Given the description of an element on the screen output the (x, y) to click on. 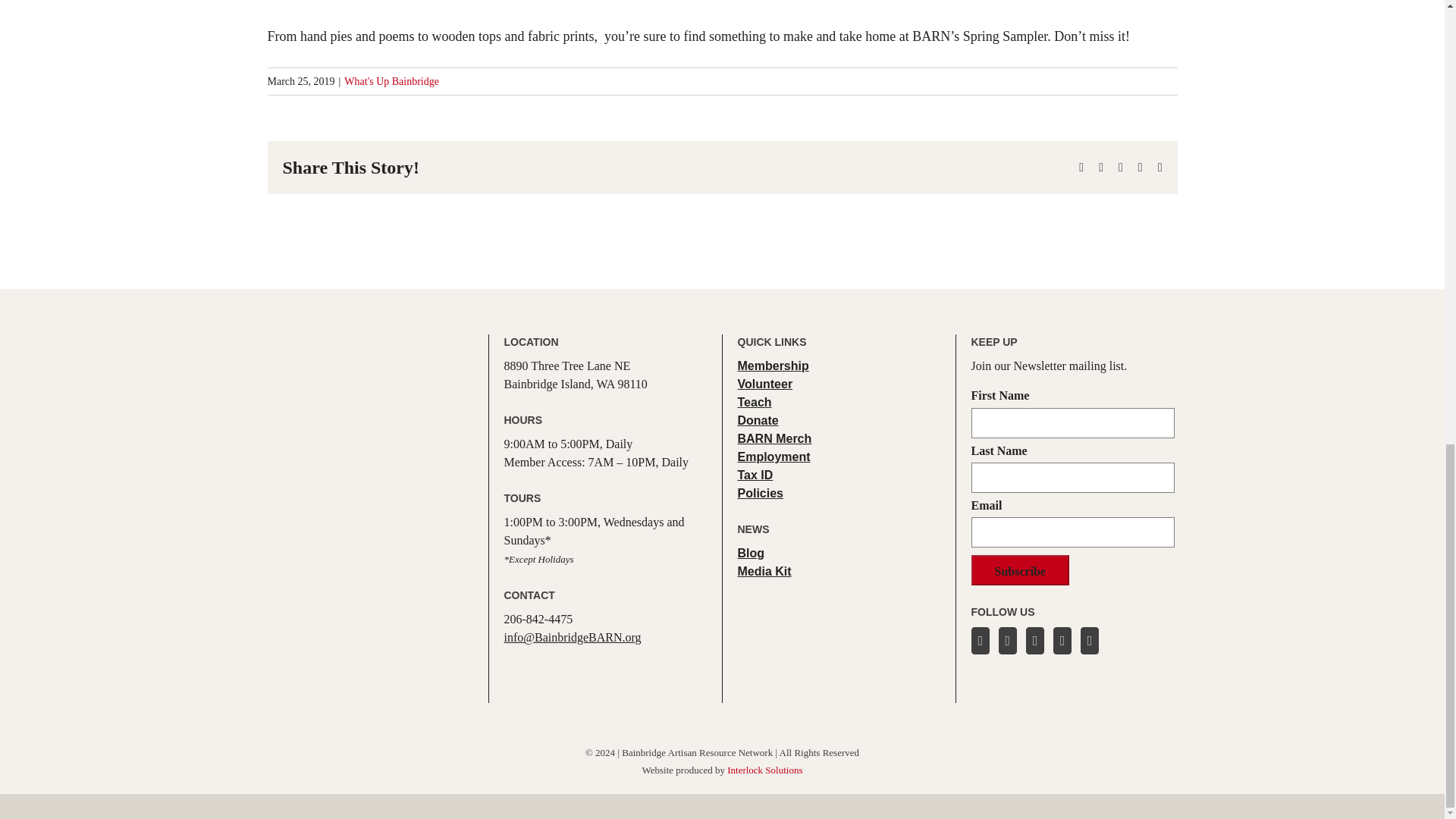
Subscribe (1019, 570)
